Given the description of an element on the screen output the (x, y) to click on. 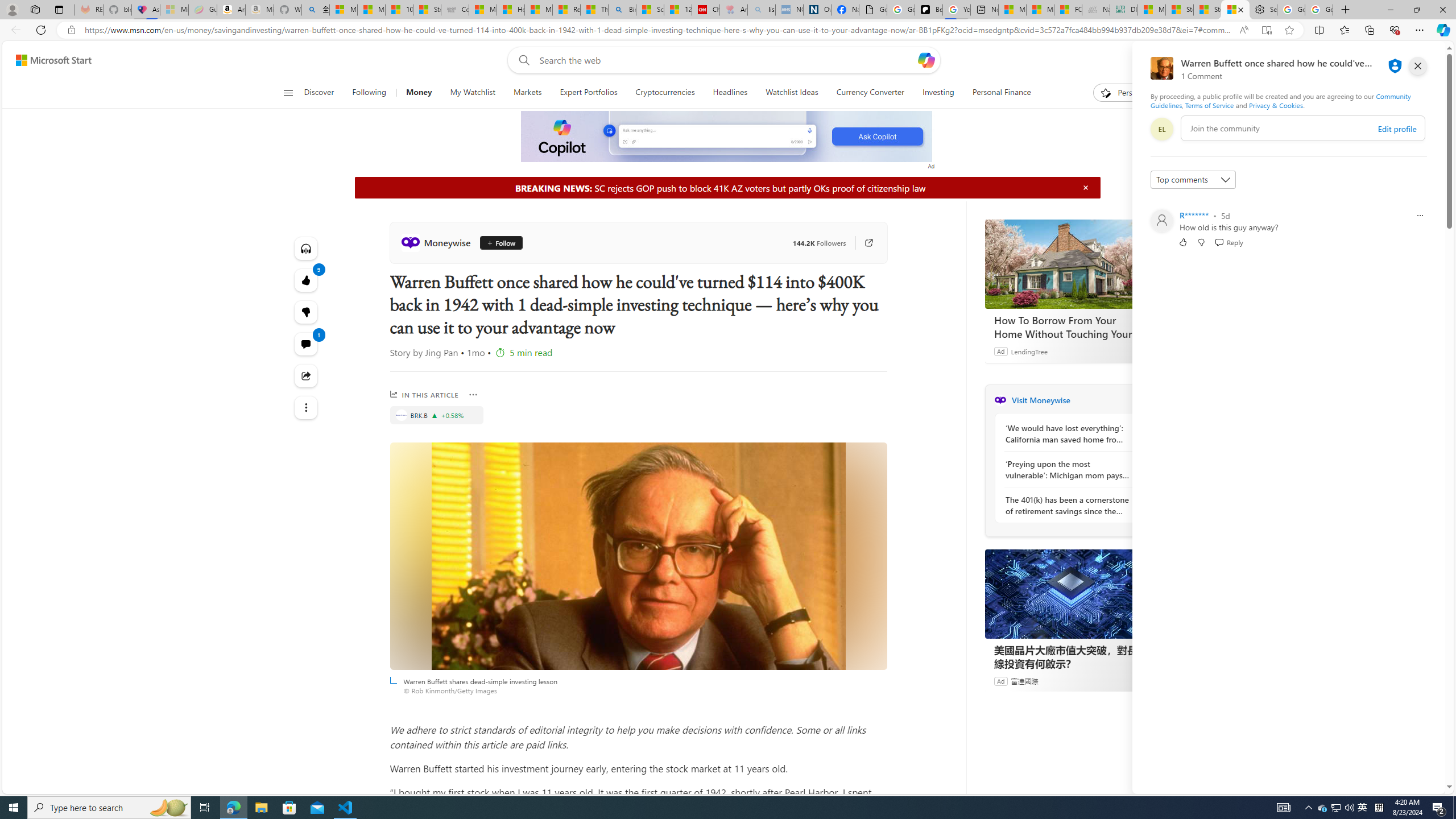
Like (1182, 241)
Share this story (305, 375)
Navy Quest (1096, 9)
Terms of Service (1209, 104)
Personalize (1128, 92)
Warren Buffett shares dead-simple investing lesson (637, 555)
